Given the description of an element on the screen output the (x, y) to click on. 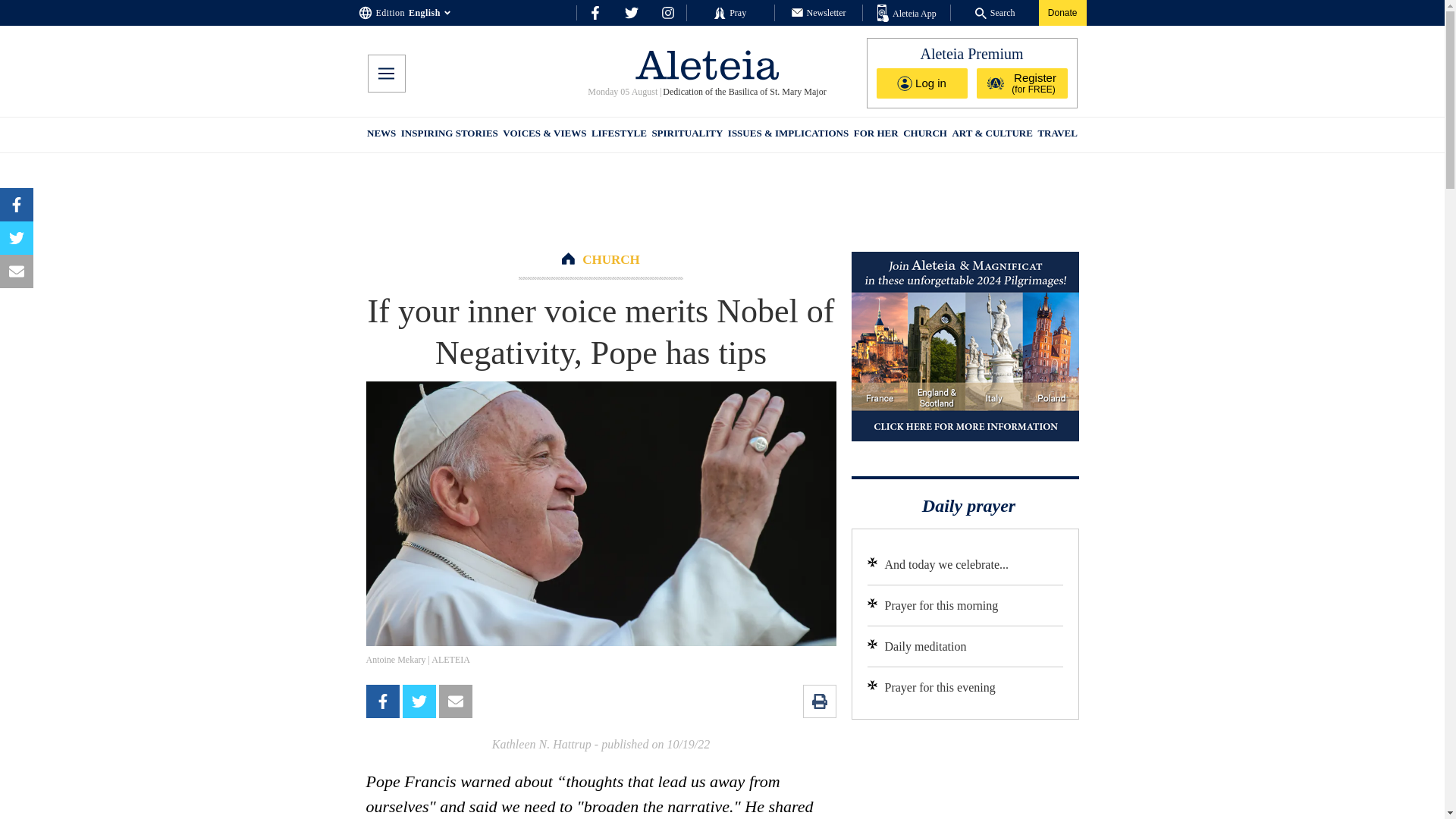
Pray (729, 12)
Kathleen N. Hattrup (541, 744)
social-fb-top-row (595, 12)
INSPIRING STORIES (449, 134)
mobile-menu-btn (385, 73)
Donate (1062, 12)
Dedication of the Basilica of St. Mary Major (744, 91)
Aleteia App (906, 13)
social-ig-top-row (668, 12)
TRAVEL (1056, 134)
Search (994, 12)
FOR HER (875, 134)
social-tw-top-row (631, 12)
LIFESTYLE (618, 134)
logo-header (706, 64)
